Given the description of an element on the screen output the (x, y) to click on. 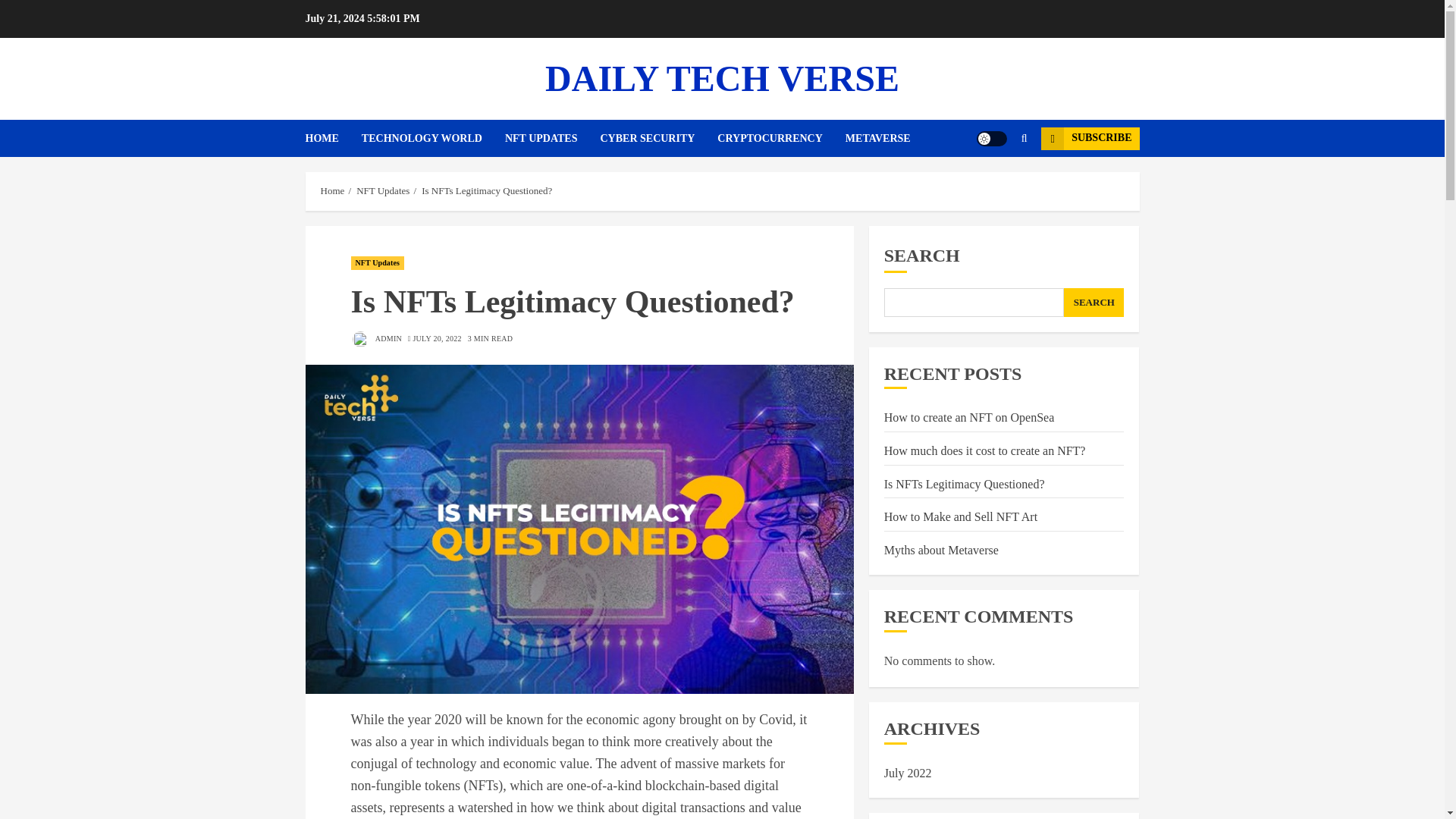
How much does it cost to create an NFT? (984, 450)
METAVERSE (878, 138)
SEARCH (1094, 302)
JULY 20, 2022 (436, 338)
ADMIN (375, 339)
Search (994, 184)
NFT Updates (382, 191)
Home (331, 191)
How to create an NFT on OpenSea (968, 418)
NFT Updates (376, 263)
NFT UPDATES (552, 138)
HOME (332, 138)
Is NFTs Legitimacy Questioned? (964, 484)
CRYPTOCURRENCY (780, 138)
CYBER SECURITY (658, 138)
